Given the description of an element on the screen output the (x, y) to click on. 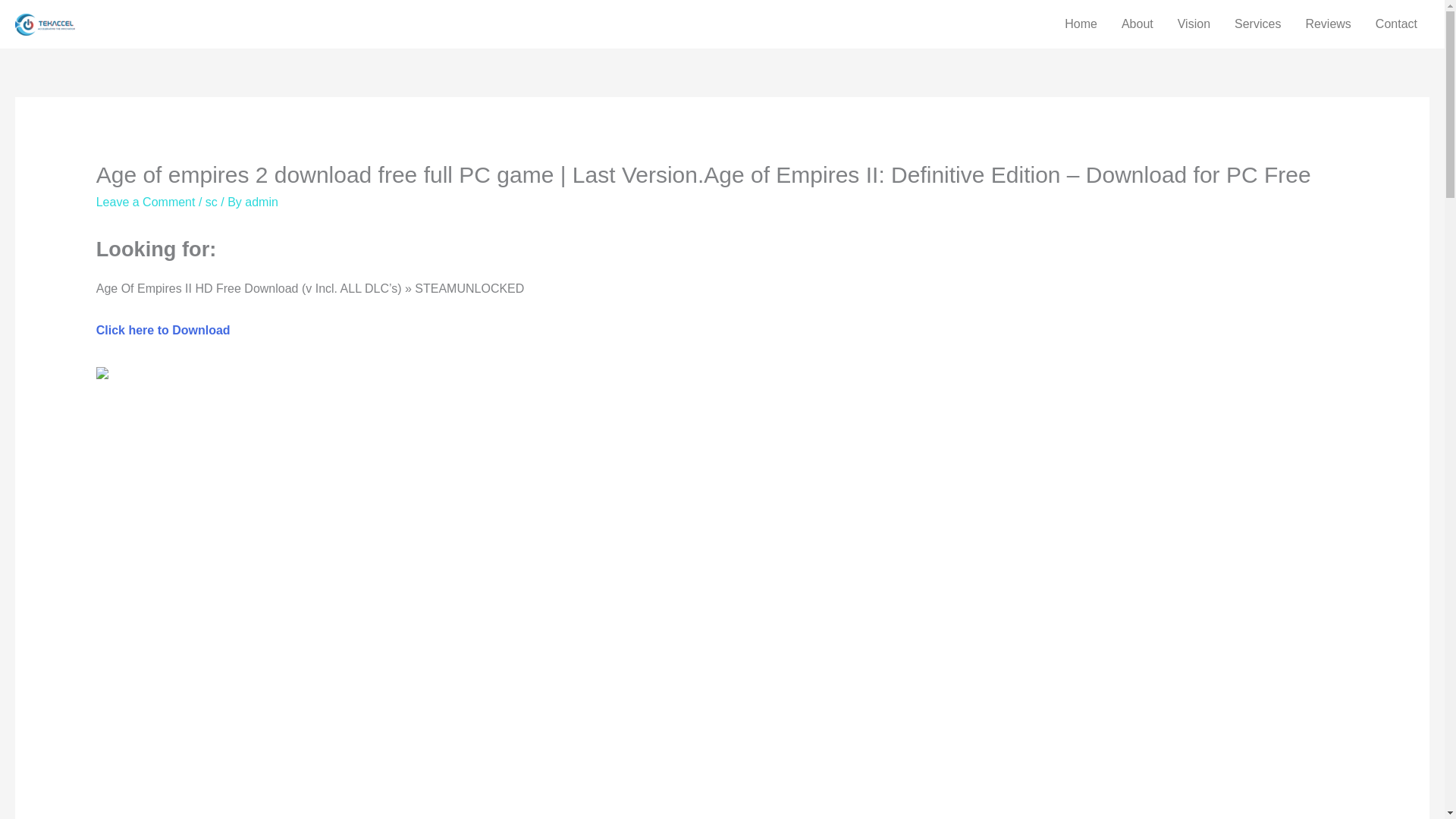
admin (261, 201)
Services (1257, 24)
Vision (1194, 24)
sc (210, 201)
Reviews (1327, 24)
About (1137, 24)
View all posts by admin (261, 201)
Home (1080, 24)
Leave a Comment (145, 201)
Click here to Download (163, 329)
Contact (1395, 24)
